Given the description of an element on the screen output the (x, y) to click on. 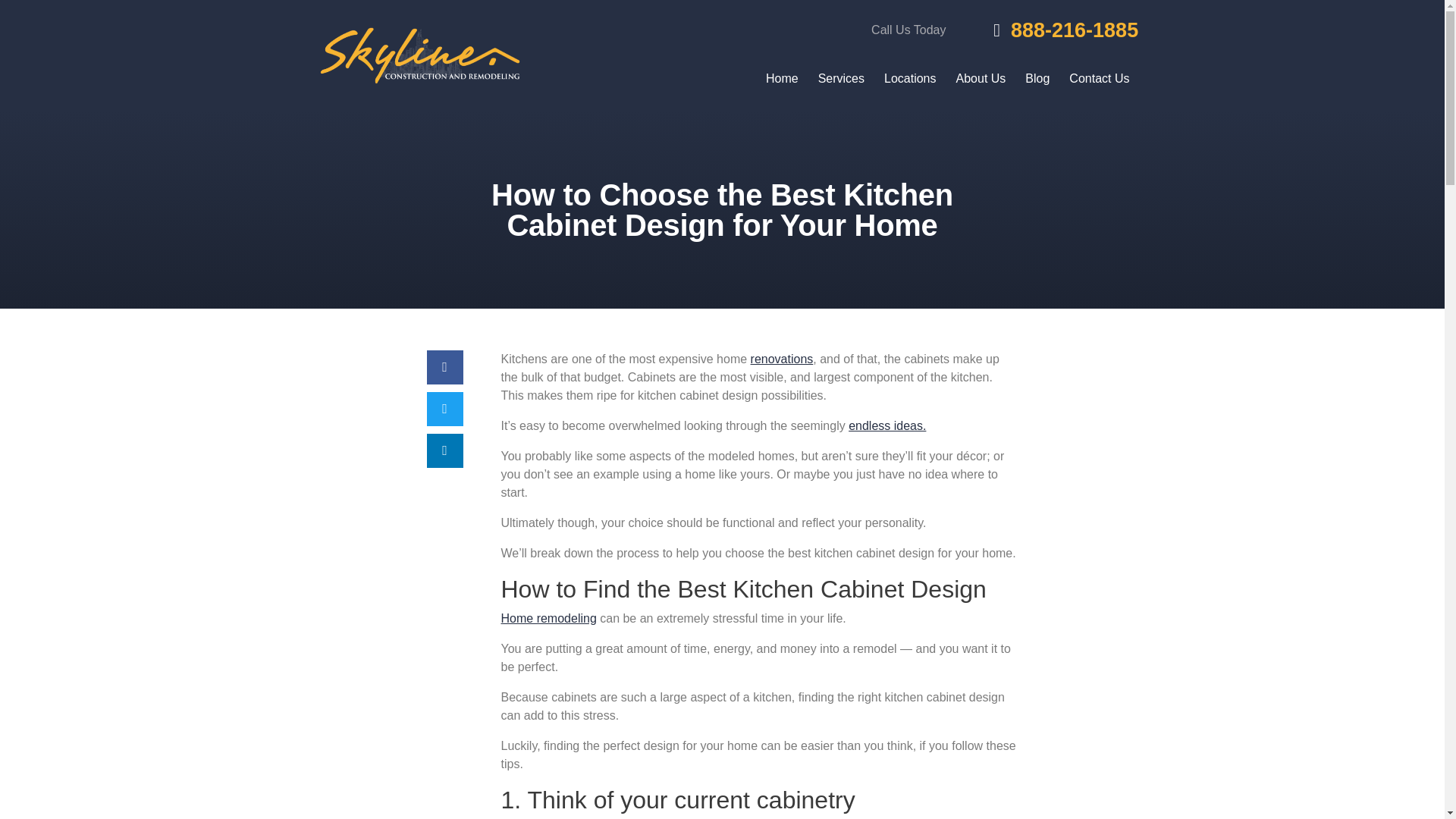
888-216-1885 (1049, 30)
Locations (910, 77)
Contact Us (1098, 77)
Home (781, 77)
Blog (1036, 77)
Call Us Today (907, 29)
About Us (981, 77)
Services (841, 77)
